Given the description of an element on the screen output the (x, y) to click on. 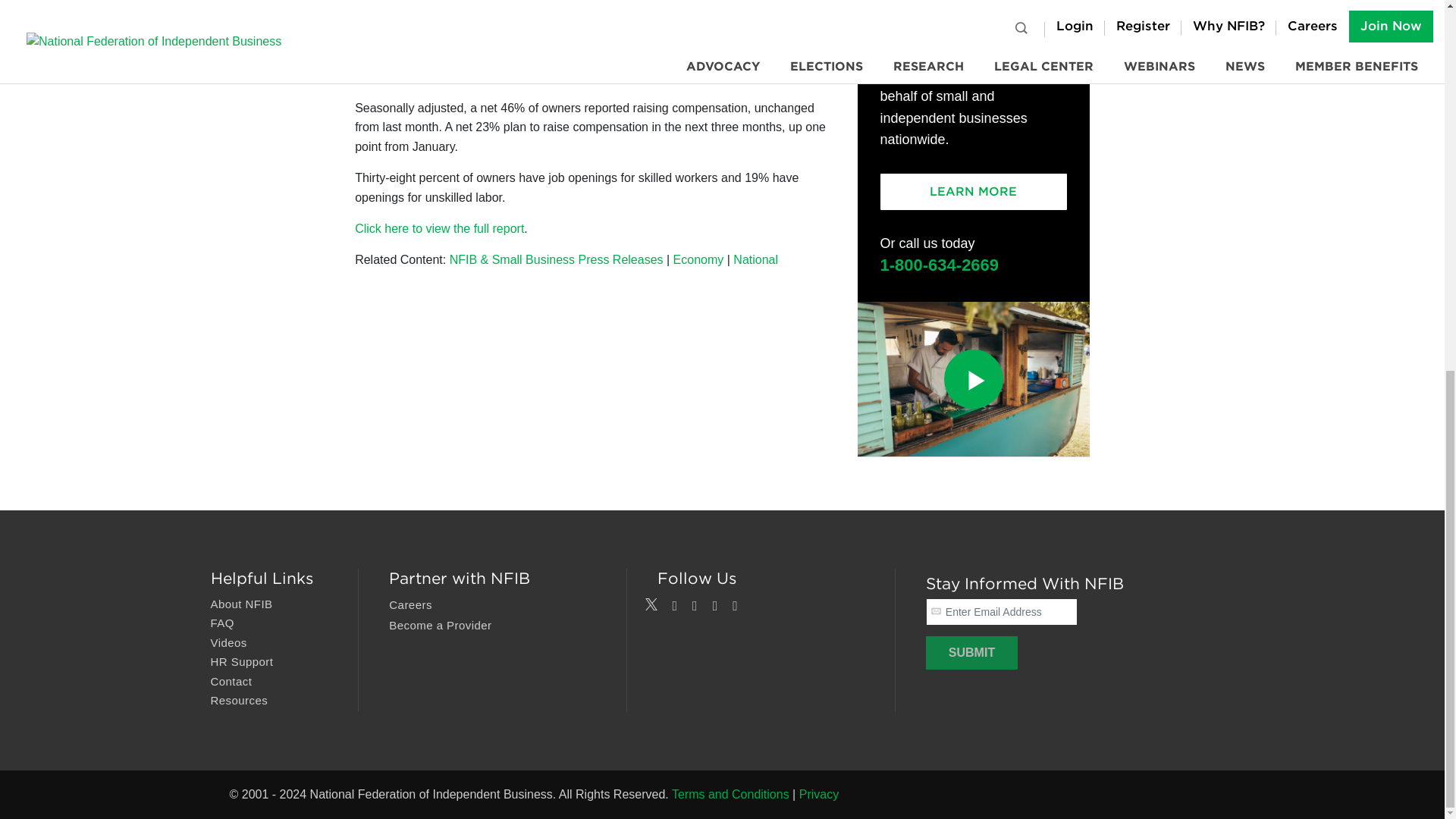
Submit (971, 652)
Watch Video (973, 379)
Contact us (231, 682)
Learn more about NFIB (242, 604)
